Given the description of an element on the screen output the (x, y) to click on. 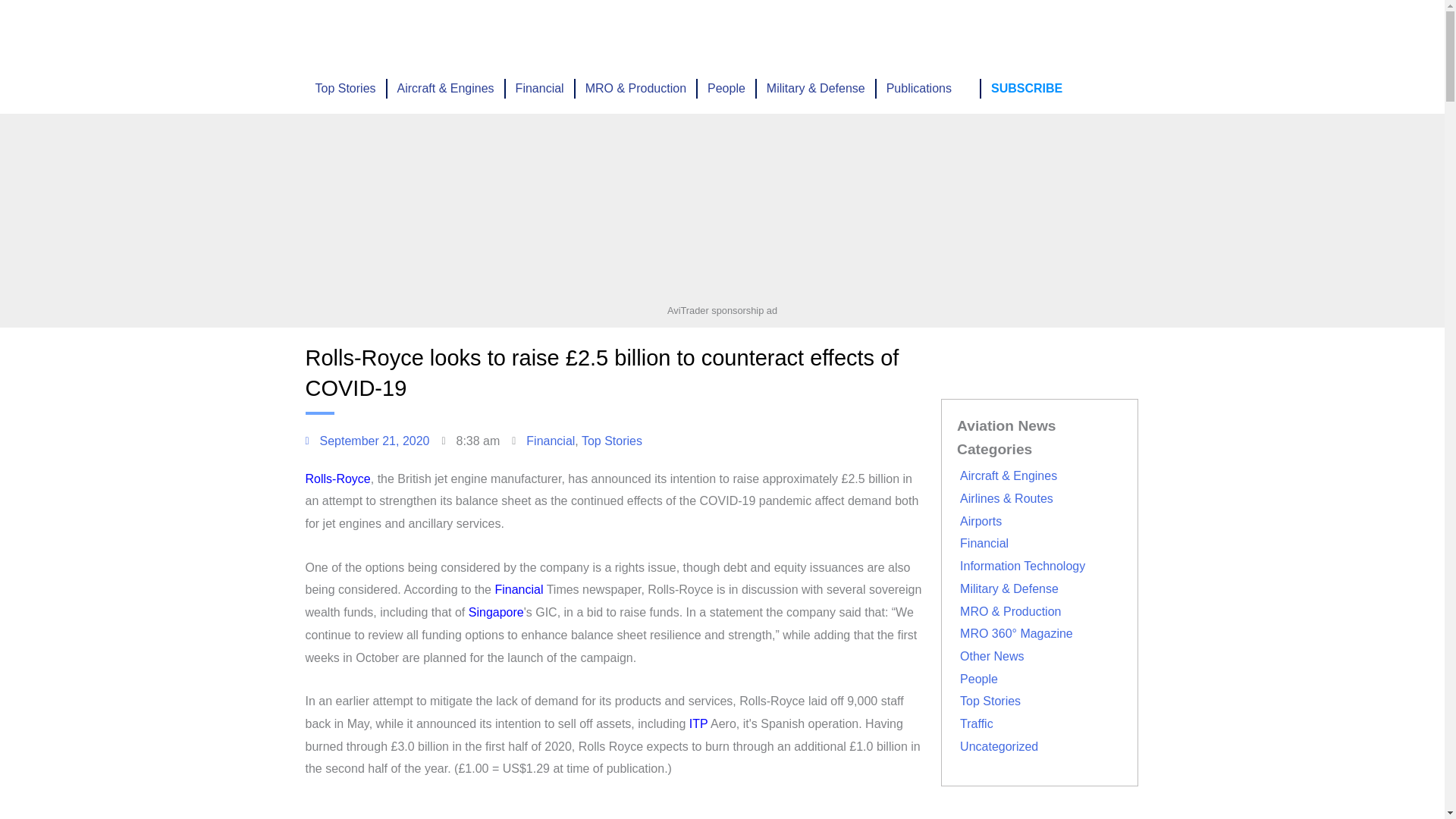
Posts tagged with Financial (519, 589)
Posts tagged with Singapore (496, 612)
Our Team (949, 31)
Posts tagged with rolls-royce (336, 478)
Contact Us (1021, 31)
Upcoming Events (583, 31)
Posts tagged with itp (697, 723)
About AviTrader (863, 31)
Advertising (681, 31)
